Given the description of an element on the screen output the (x, y) to click on. 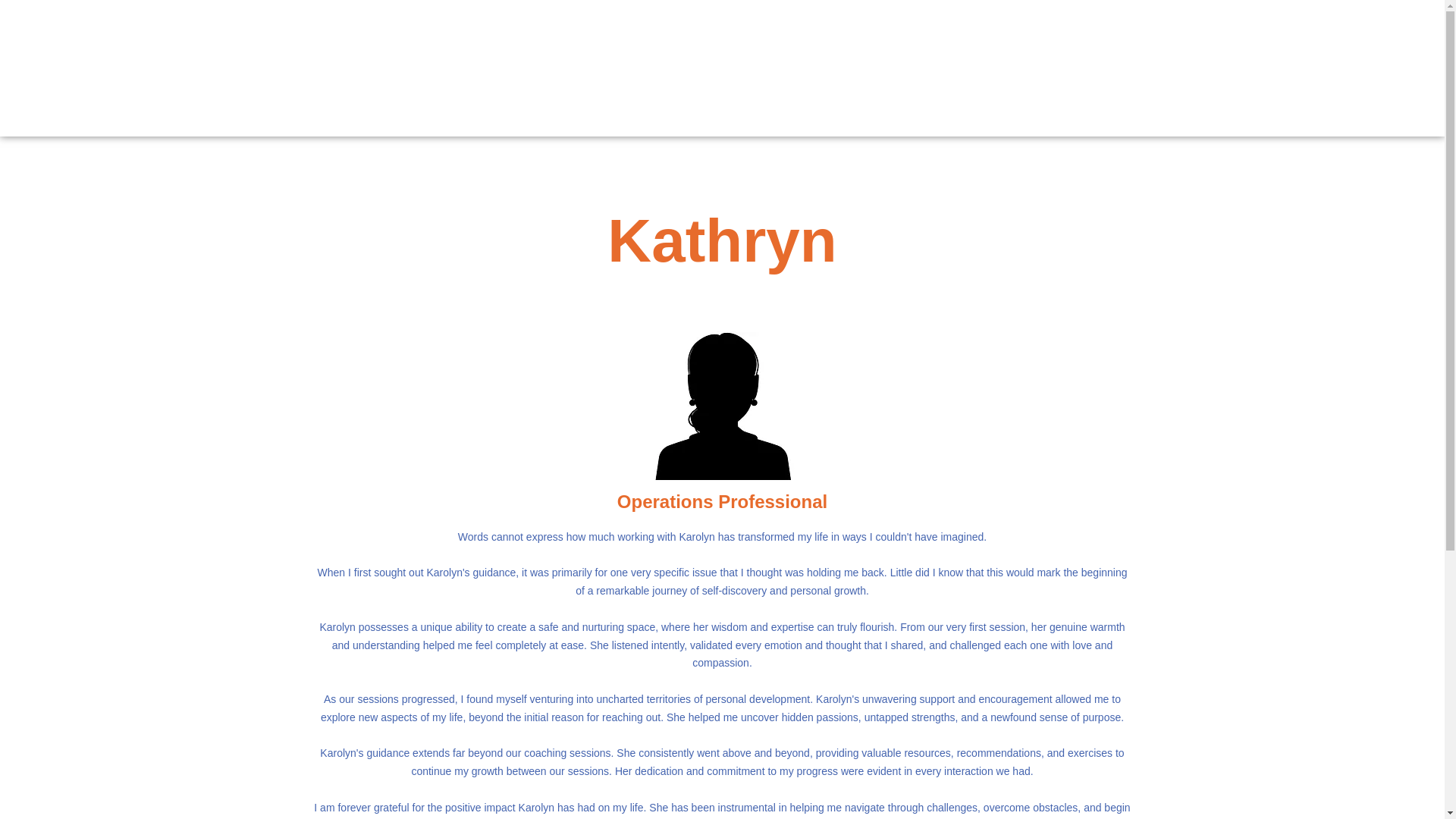
About (883, 67)
Welcome (824, 67)
Contact (1119, 67)
Reviews (1058, 67)
Coaching Services (968, 67)
